Given the description of an element on the screen output the (x, y) to click on. 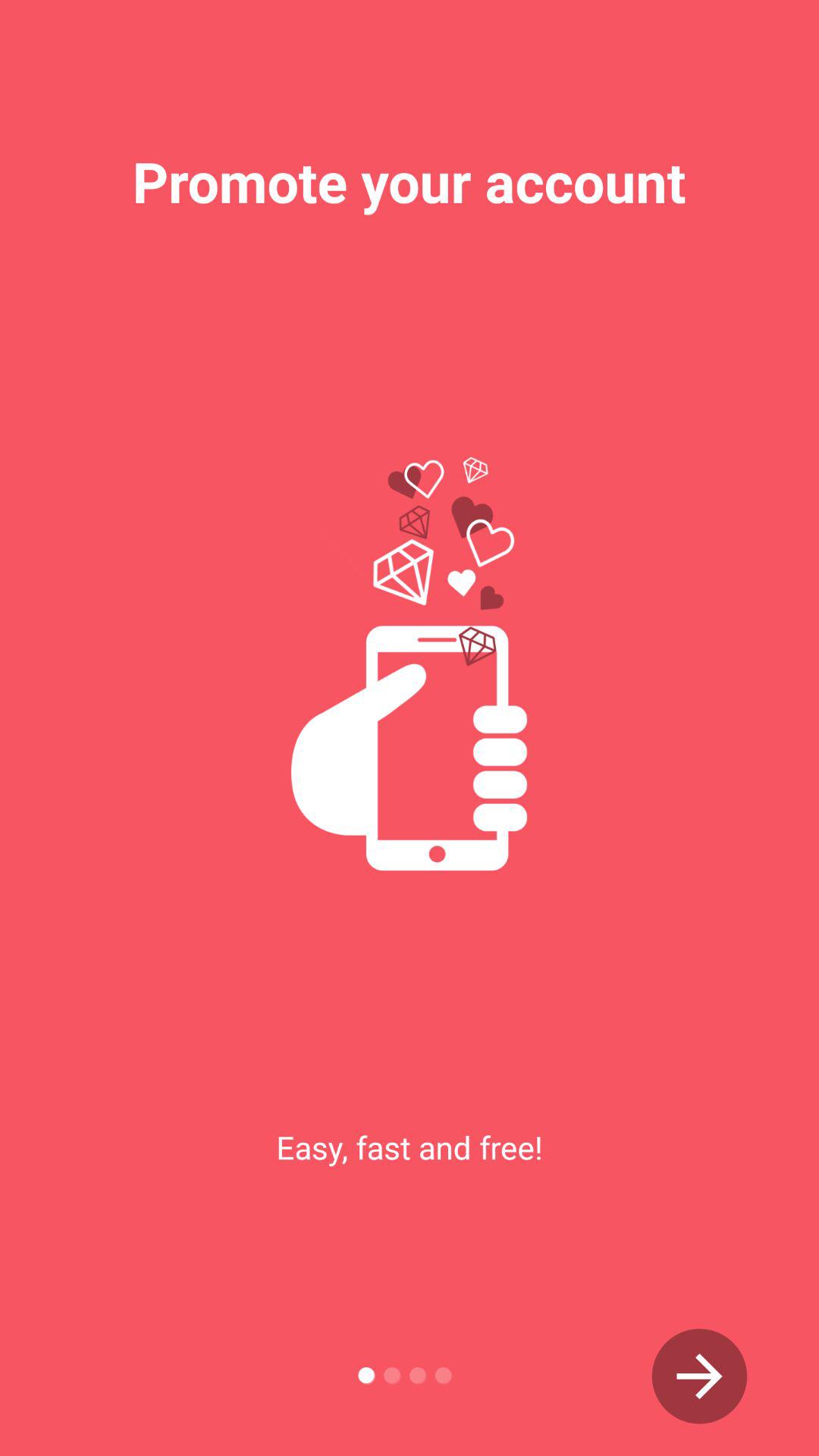
next (699, 1376)
